Given the description of an element on the screen output the (x, y) to click on. 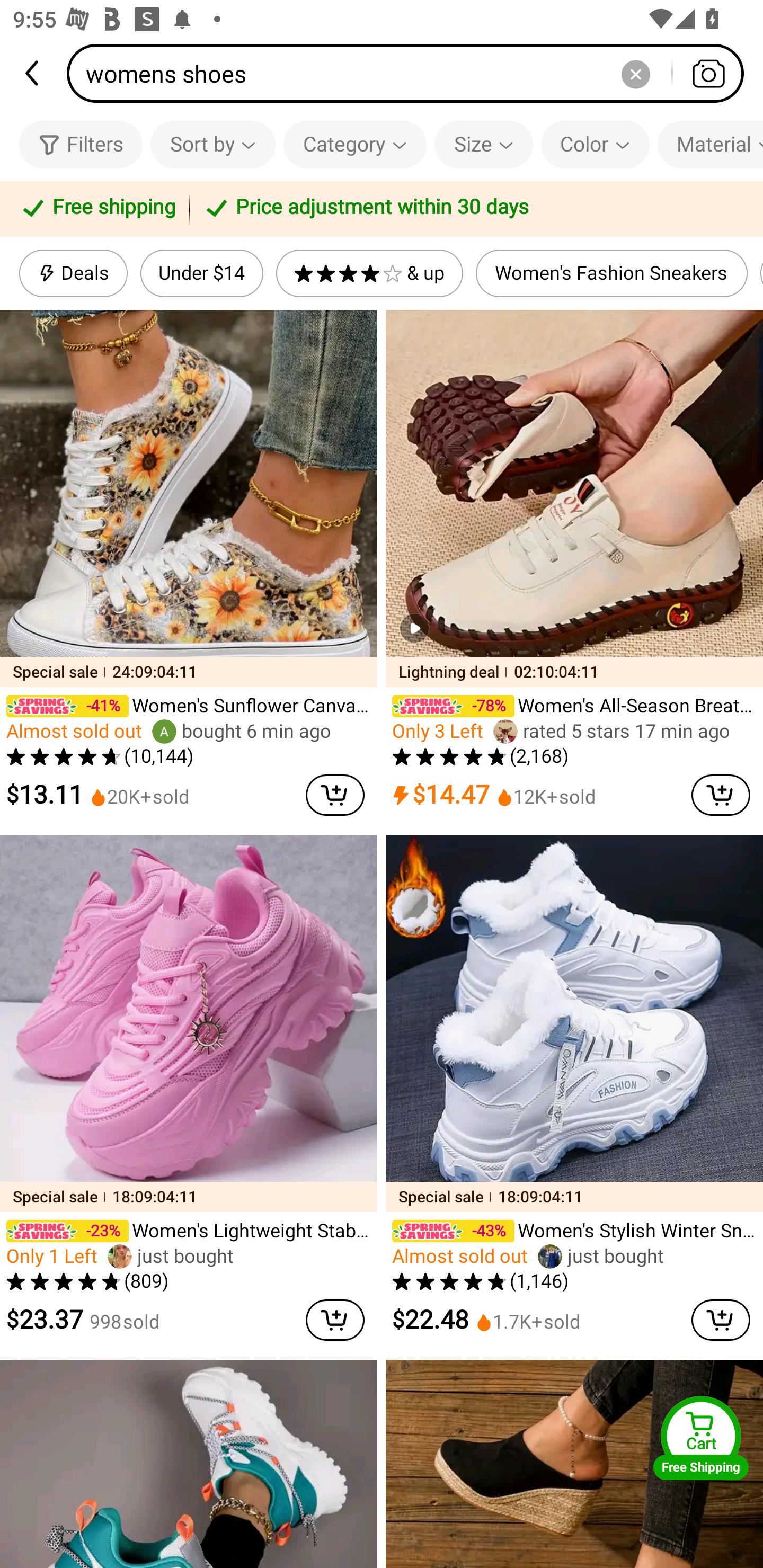
back (33, 72)
womens shoes (411, 73)
Delete search history (635, 73)
Search by photo (708, 73)
Filters (80, 143)
Sort by (212, 143)
Category (354, 143)
Size (483, 143)
Color (594, 143)
Material (710, 143)
Free shipping (97, 208)
Price adjustment within 30 days (472, 208)
Deals (73, 273)
Under $14 (201, 273)
& up (369, 273)
Women's Fashion Sneakers (611, 273)
cart delete (334, 794)
cart delete (720, 794)
cart delete (334, 1319)
cart delete (720, 1319)
Cart Free Shipping Cart (701, 1437)
